Given the description of an element on the screen output the (x, y) to click on. 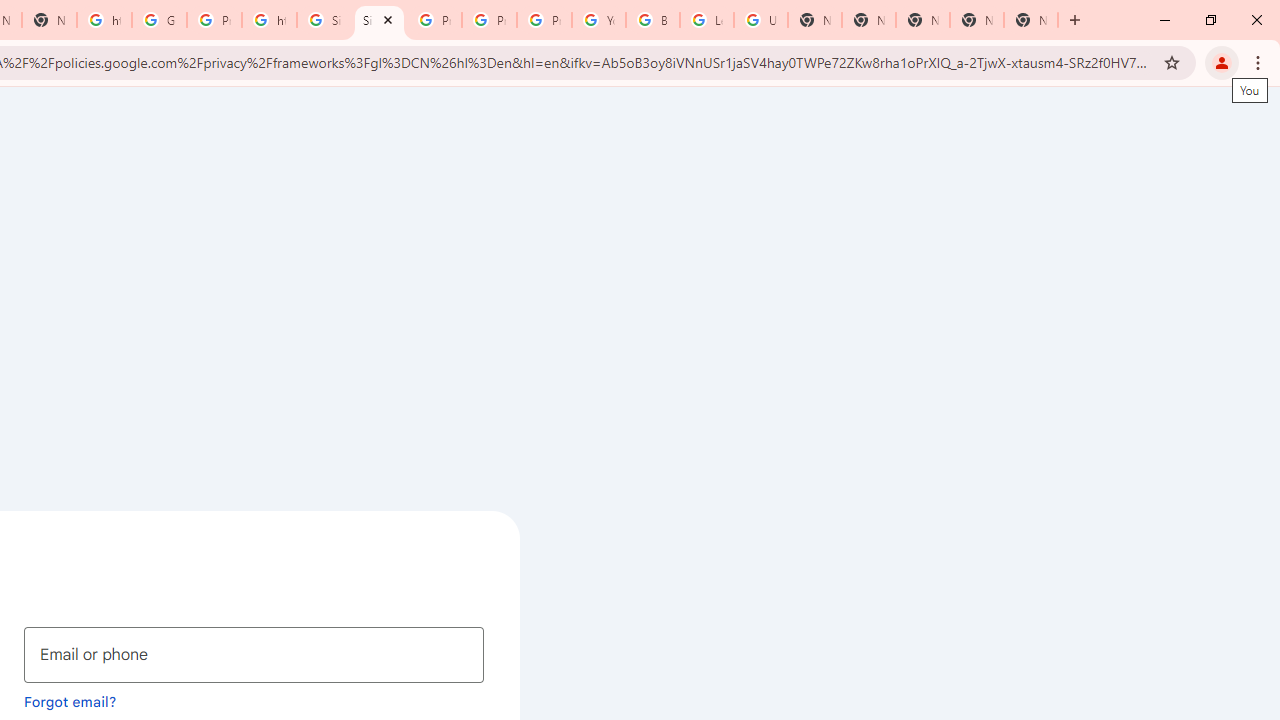
https://scholar.google.com/ (103, 20)
New Tab (922, 20)
Privacy Help Center - Policies Help (434, 20)
Browse Chrome as a guest - Computer - Google Chrome Help (652, 20)
